Given the description of an element on the screen output the (x, y) to click on. 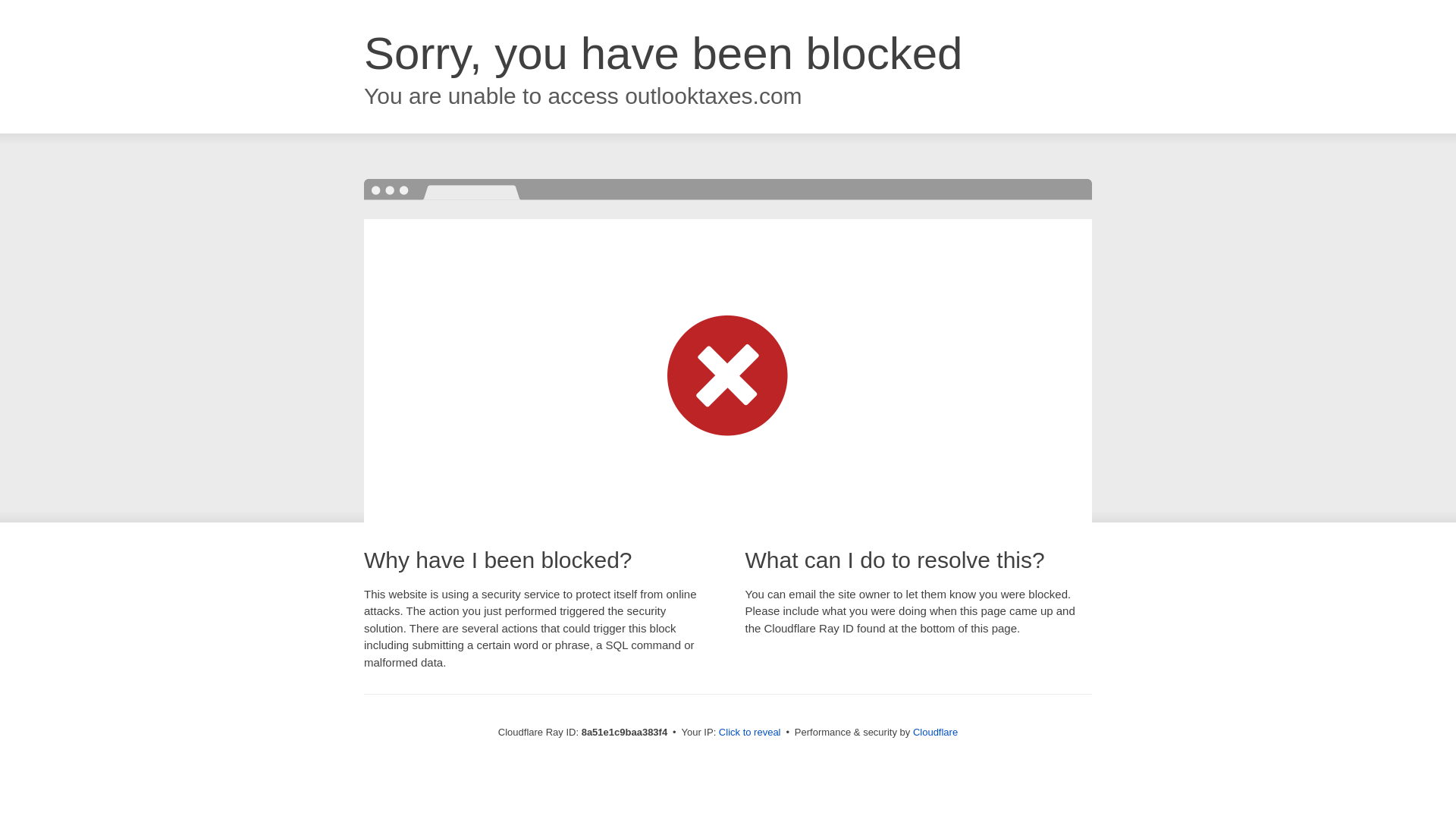
Cloudflare (935, 731)
Click to reveal (749, 732)
